Given the description of an element on the screen output the (x, y) to click on. 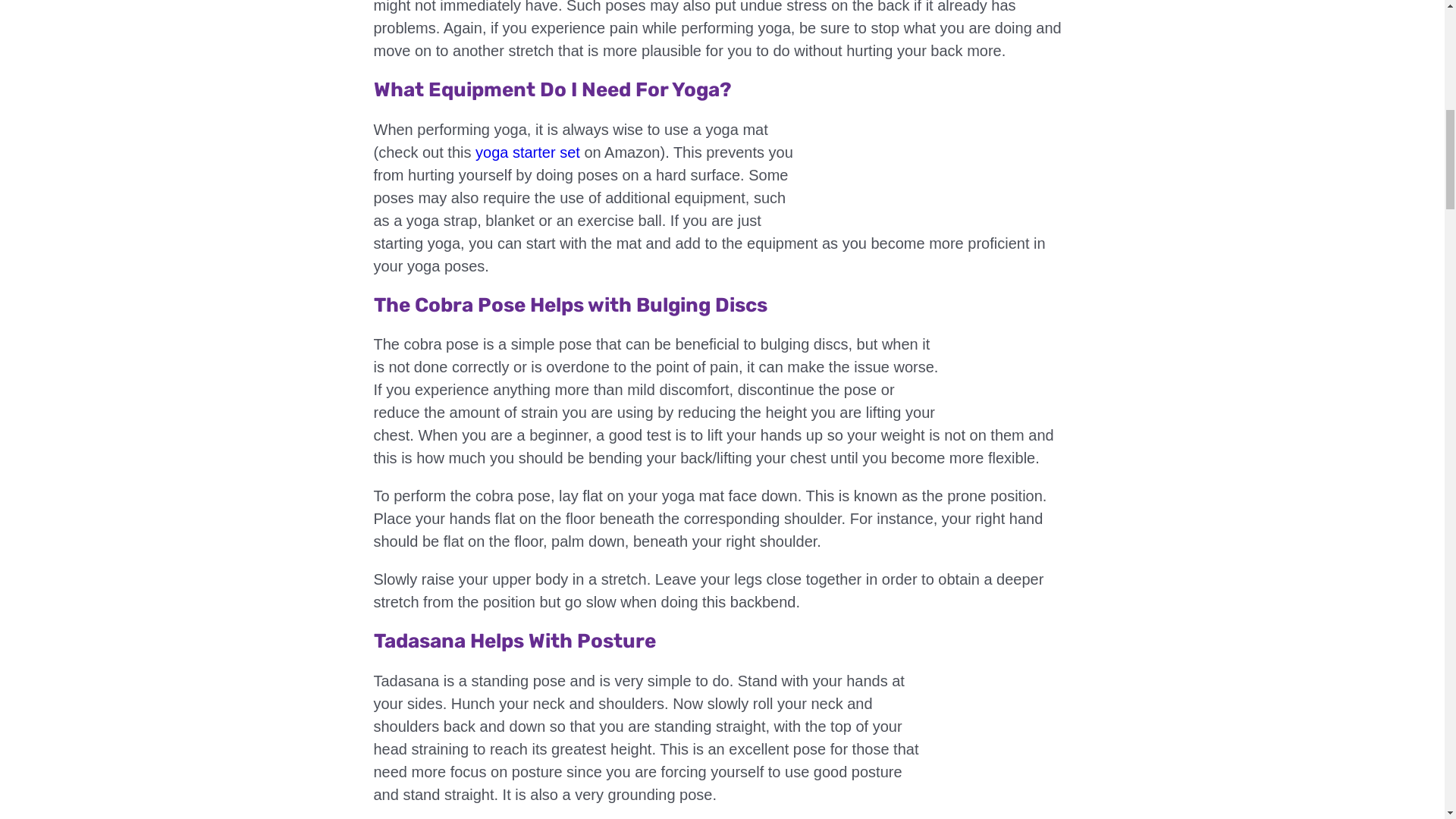
Yoga Poses for your Back (948, 152)
Cobra Pose (1013, 369)
